Given the description of an element on the screen output the (x, y) to click on. 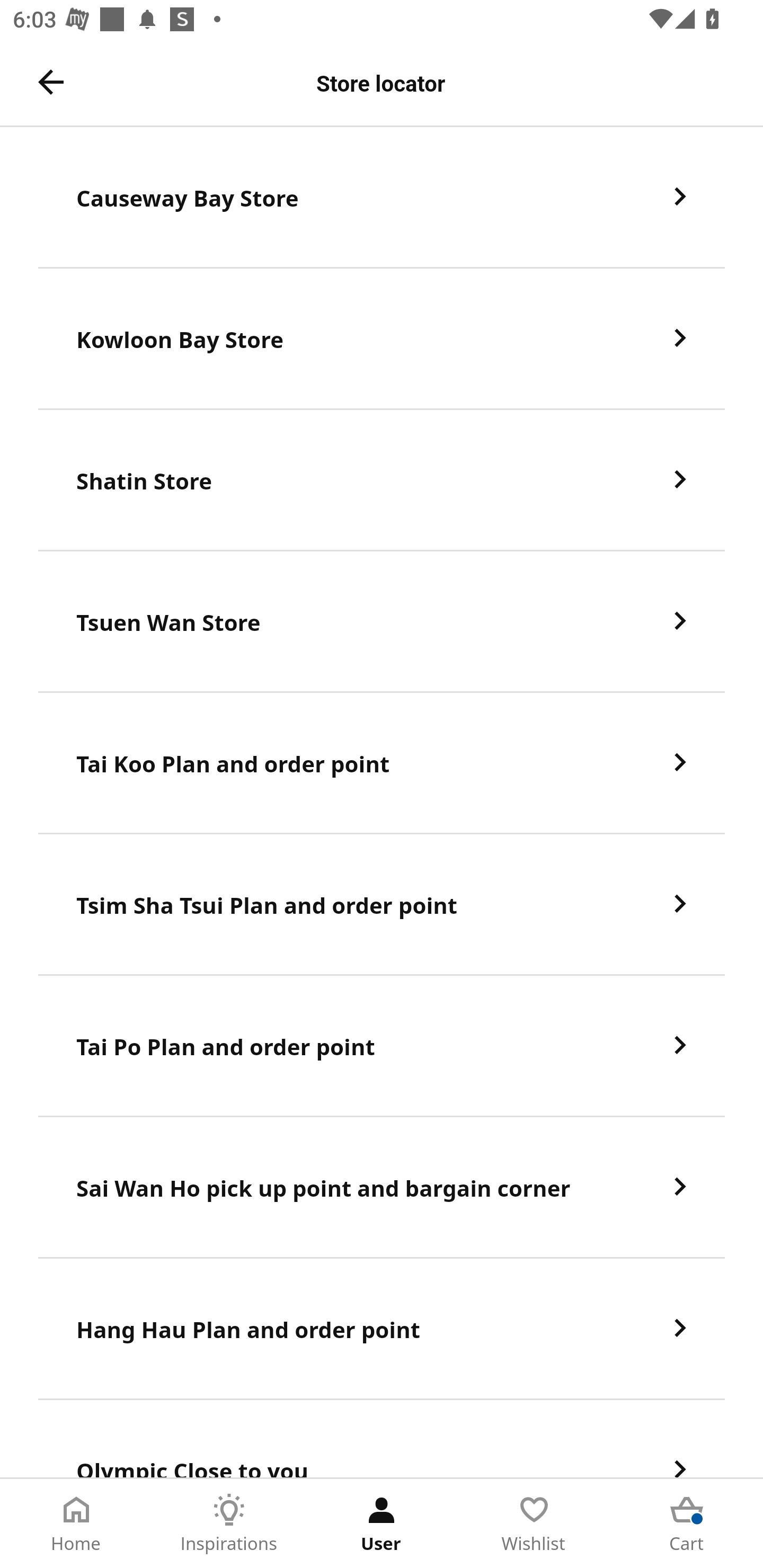
Causeway Bay Store (381, 197)
Kowloon Bay Store (381, 338)
Shatin Store (381, 480)
Tsuen Wan Store (381, 622)
Tai Koo Plan and order point (381, 763)
Tsim Sha Tsui Plan and order point (381, 904)
Tai Po Plan and order point (381, 1045)
Sai Wan Ho pick up point and bargain corner (381, 1187)
Hang Hau Plan and order point (381, 1329)
Olympic Close to you (381, 1438)
Home
Tab 1 of 5 (76, 1522)
Inspirations
Tab 2 of 5 (228, 1522)
User
Tab 3 of 5 (381, 1522)
Wishlist
Tab 4 of 5 (533, 1522)
Cart
Tab 5 of 5 (686, 1522)
